Given the description of an element on the screen output the (x, y) to click on. 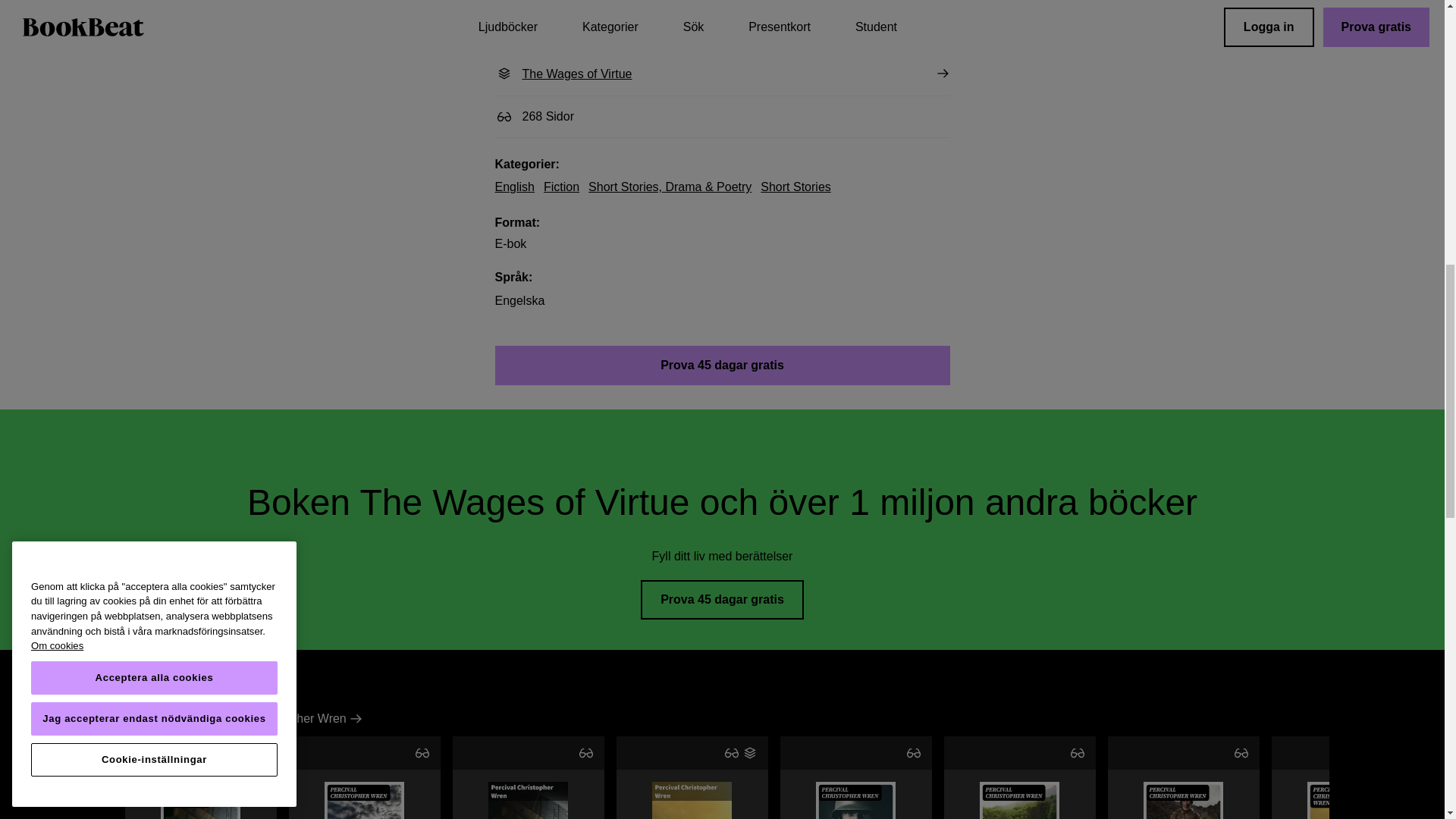
Snake and Sword (691, 800)
Item 4 of 17 (691, 777)
Fiction (561, 187)
English (514, 187)
The Wages of Virtue (722, 74)
Prova 45 dagar gratis (721, 599)
Item 2 of 17 (691, 777)
Prova 45 dagar gratis (363, 777)
Fiction (722, 364)
Driftwood Spars (561, 187)
Item 5 of 17 (199, 800)
Driftwood Spars (854, 777)
Beau Ideal (1182, 777)
